Given the description of an element on the screen output the (x, y) to click on. 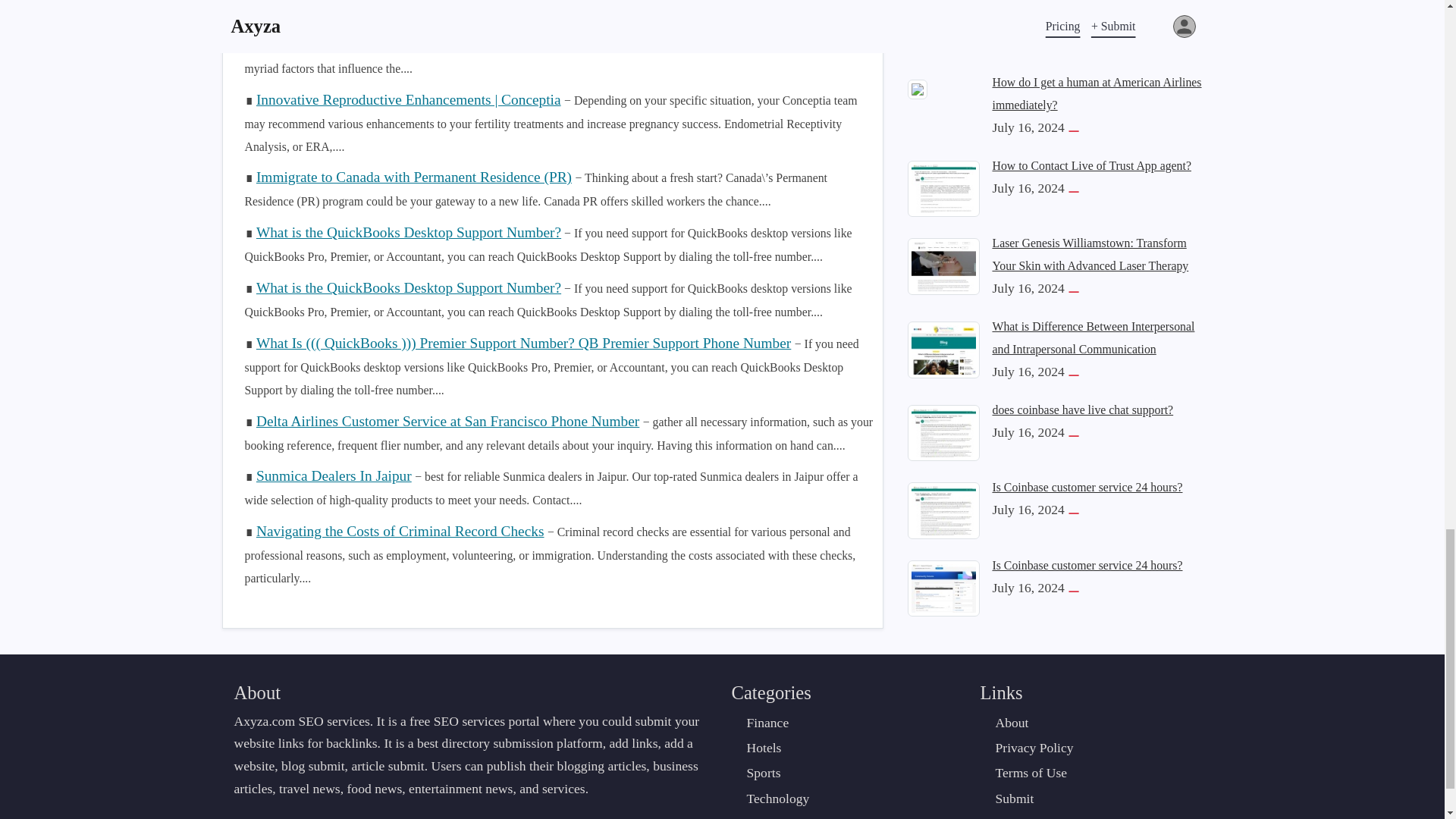
Sunmica Dealers In Jaipur (334, 475)
Navigating the Costs of Criminal Record Checks (400, 530)
